Given the description of an element on the screen output the (x, y) to click on. 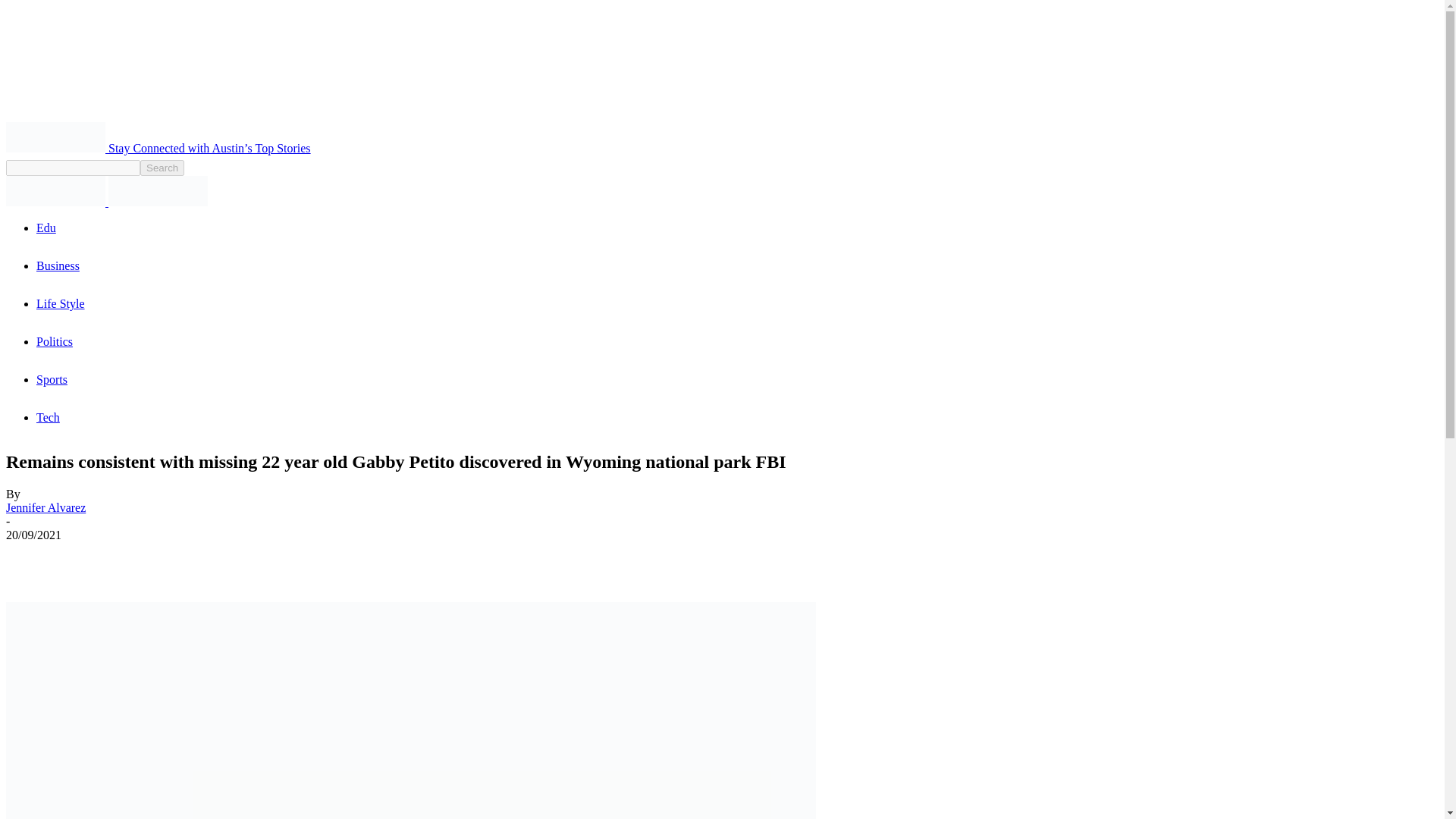
Life Style (60, 303)
Breaking News (54, 191)
Breaking News (157, 191)
Tech (47, 417)
Search (161, 167)
Breaking News (54, 137)
Jennifer Alvarez (45, 507)
Edu (46, 227)
Politics (54, 341)
Sports (51, 379)
